Given the description of an element on the screen output the (x, y) to click on. 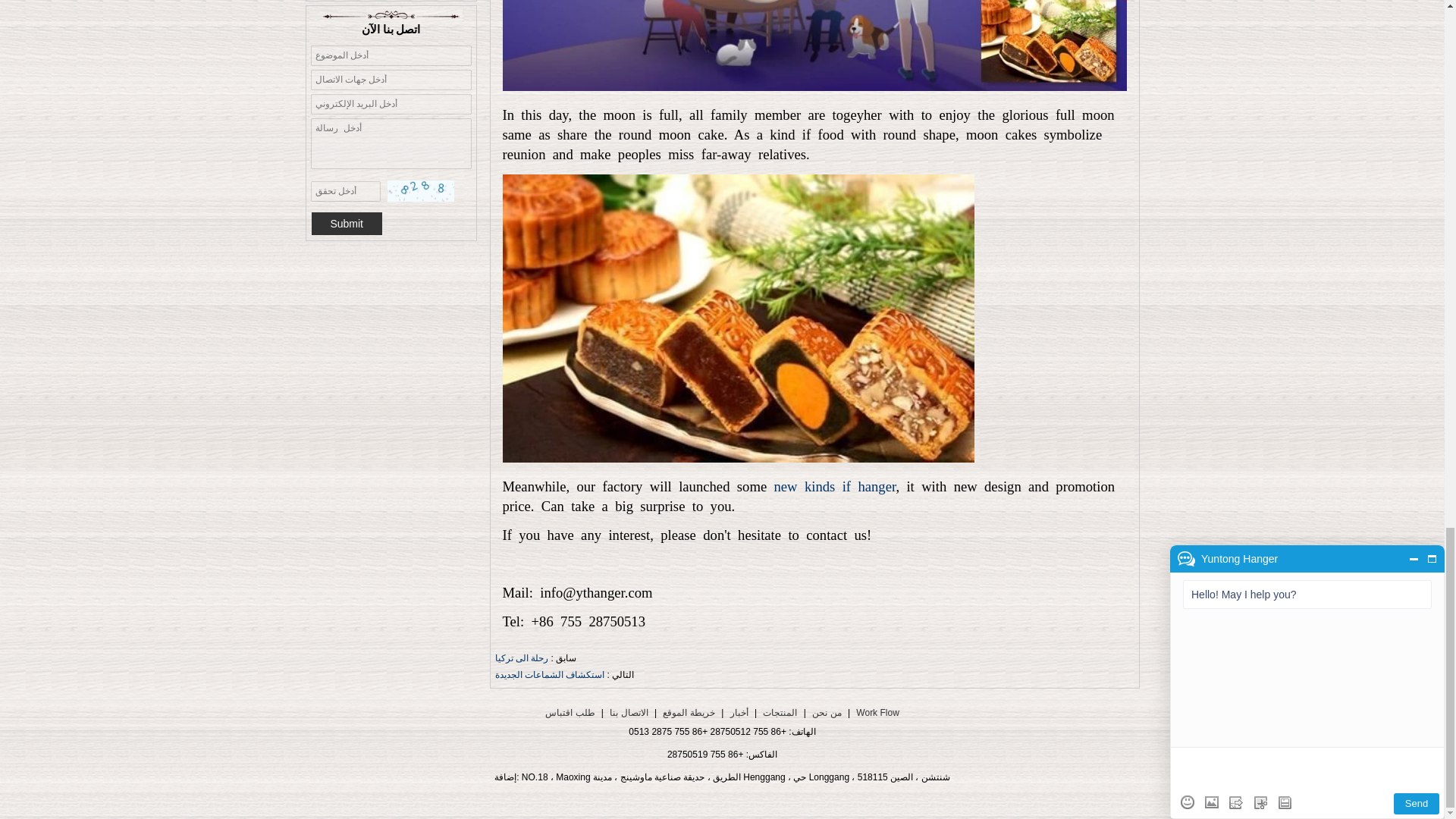
 Submit  (346, 223)
